Given the description of an element on the screen output the (x, y) to click on. 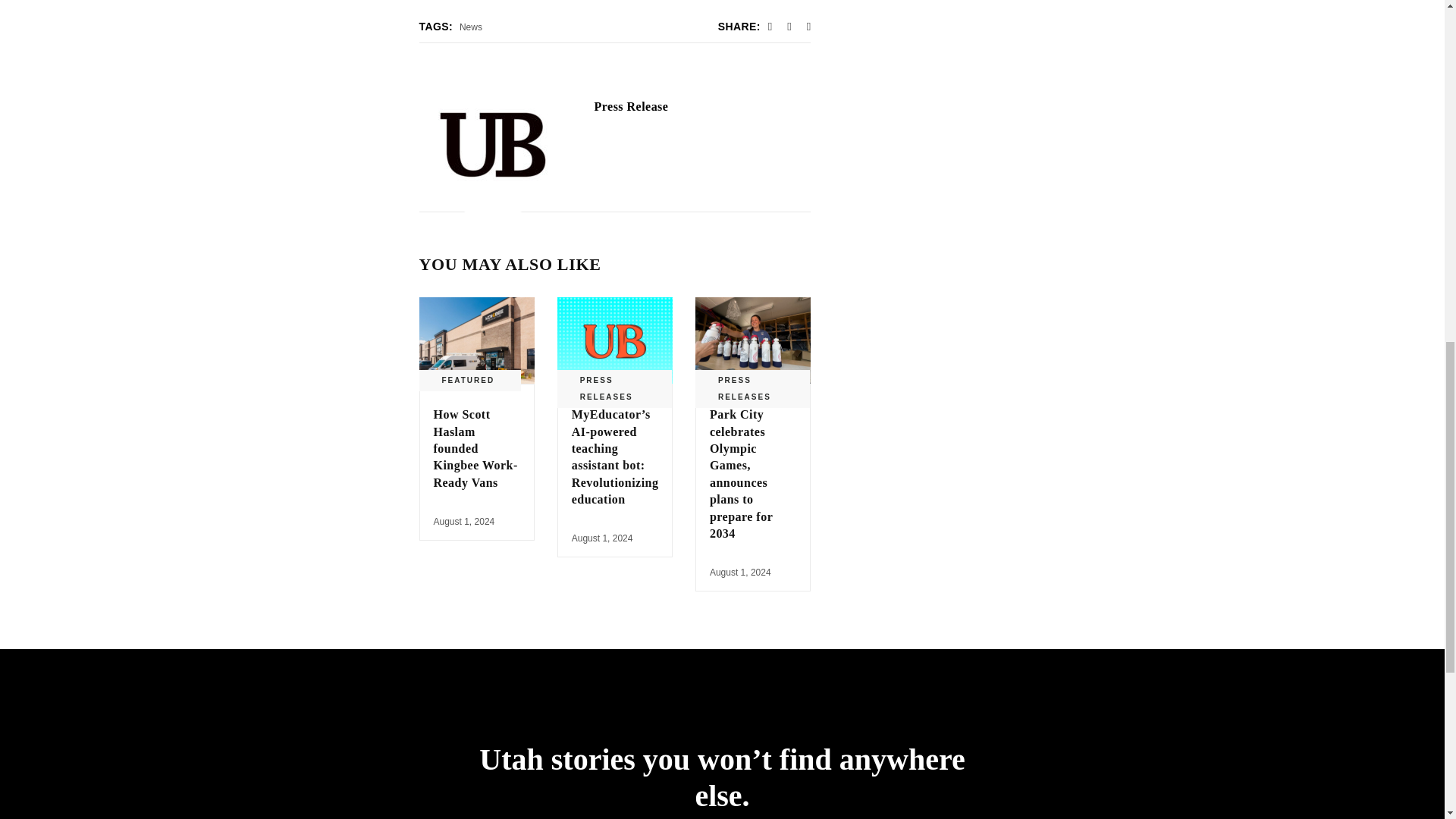
How Scott Haslam founded Kingbee Work-Ready Vans (476, 340)
Press Release (631, 106)
Gov. Cox declares Community Development Month in Utah (493, 144)
Gov. Cox declares Community Development Month in Utah (631, 106)
FEATURED (468, 380)
News (470, 27)
How Scott Haslam founded Kingbee Work-Ready Vans (475, 447)
